Given the description of an element on the screen output the (x, y) to click on. 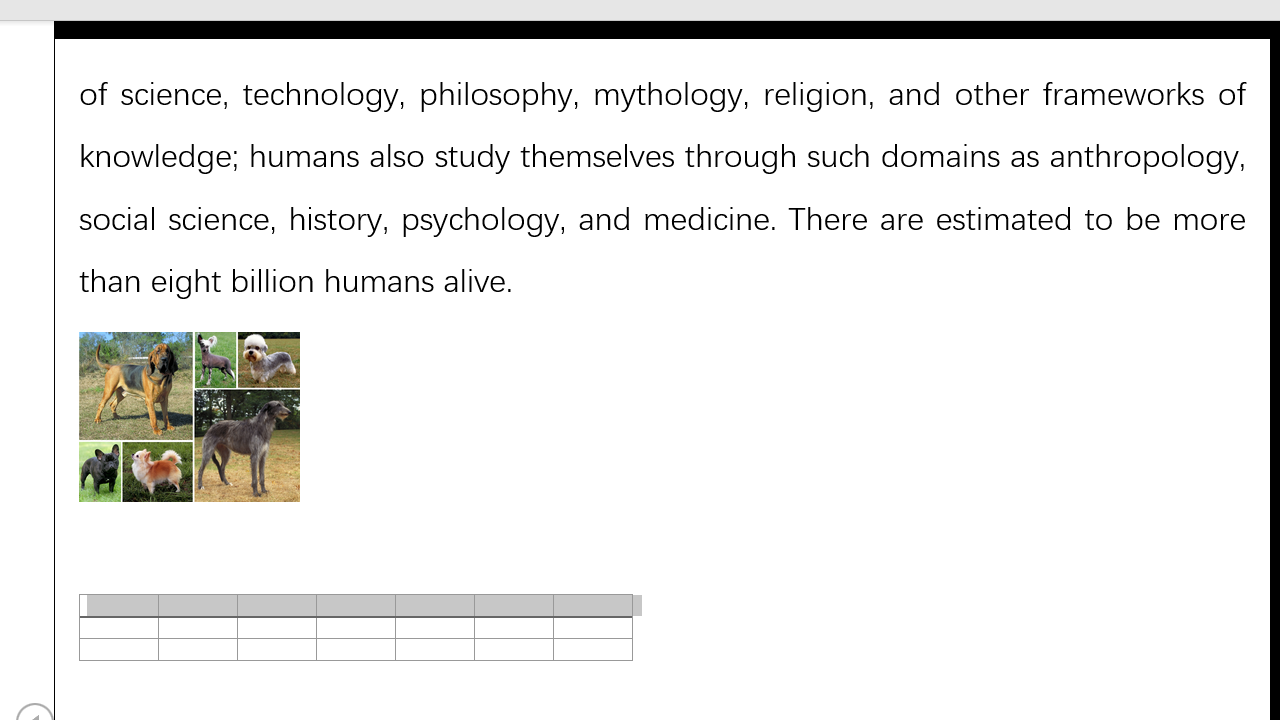
Morphological variation in six dogs (188, 416)
